Given the description of an element on the screen output the (x, y) to click on. 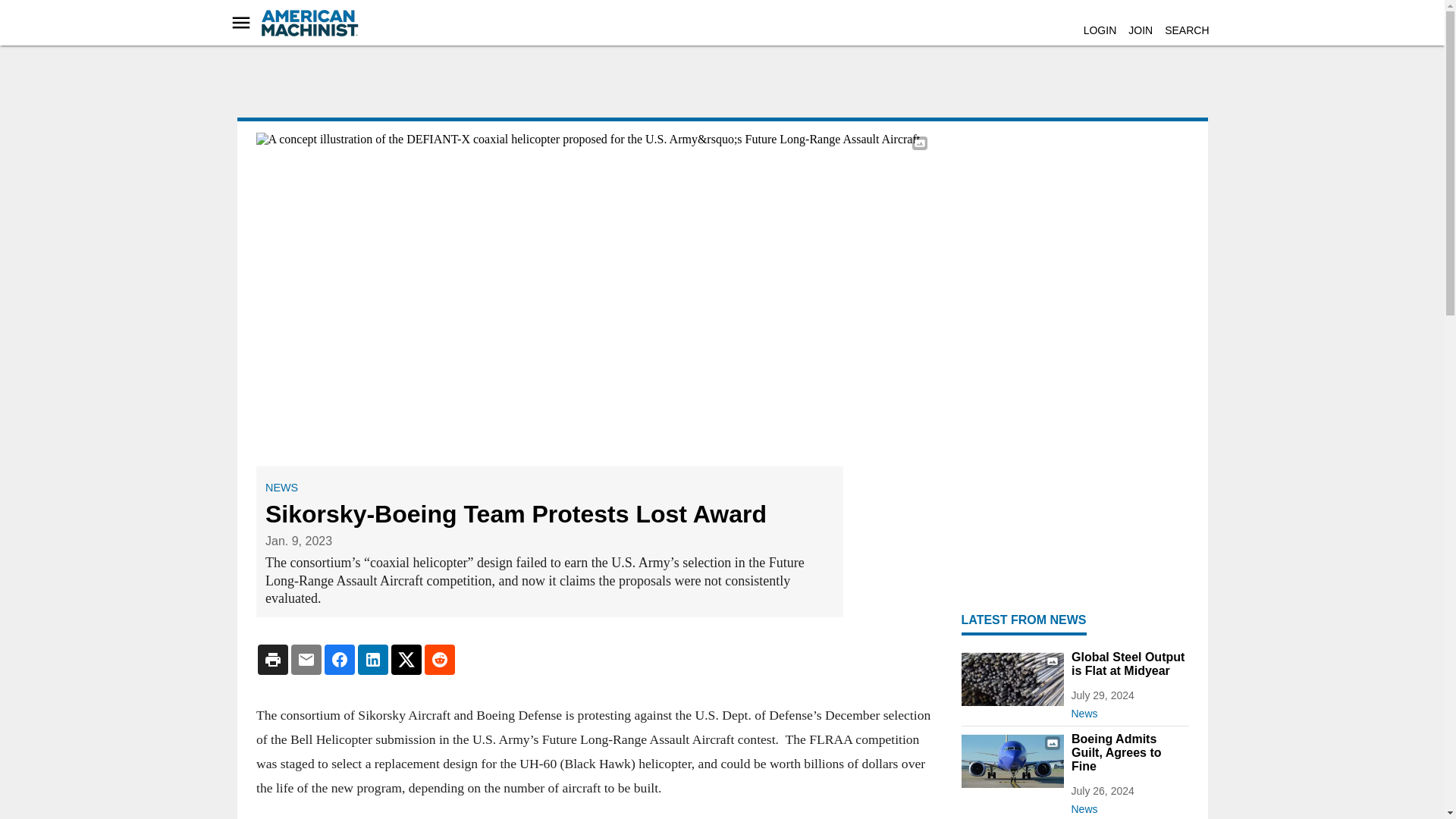
News (1129, 710)
LOGIN (1099, 30)
News (1129, 805)
Global Steel Output is Flat at Midyear (1129, 664)
JOIN (1140, 30)
Boeing Admits Guilt, Agrees to Fine (1129, 752)
NEWS (281, 487)
SEARCH (1186, 30)
